Given the description of an element on the screen output the (x, y) to click on. 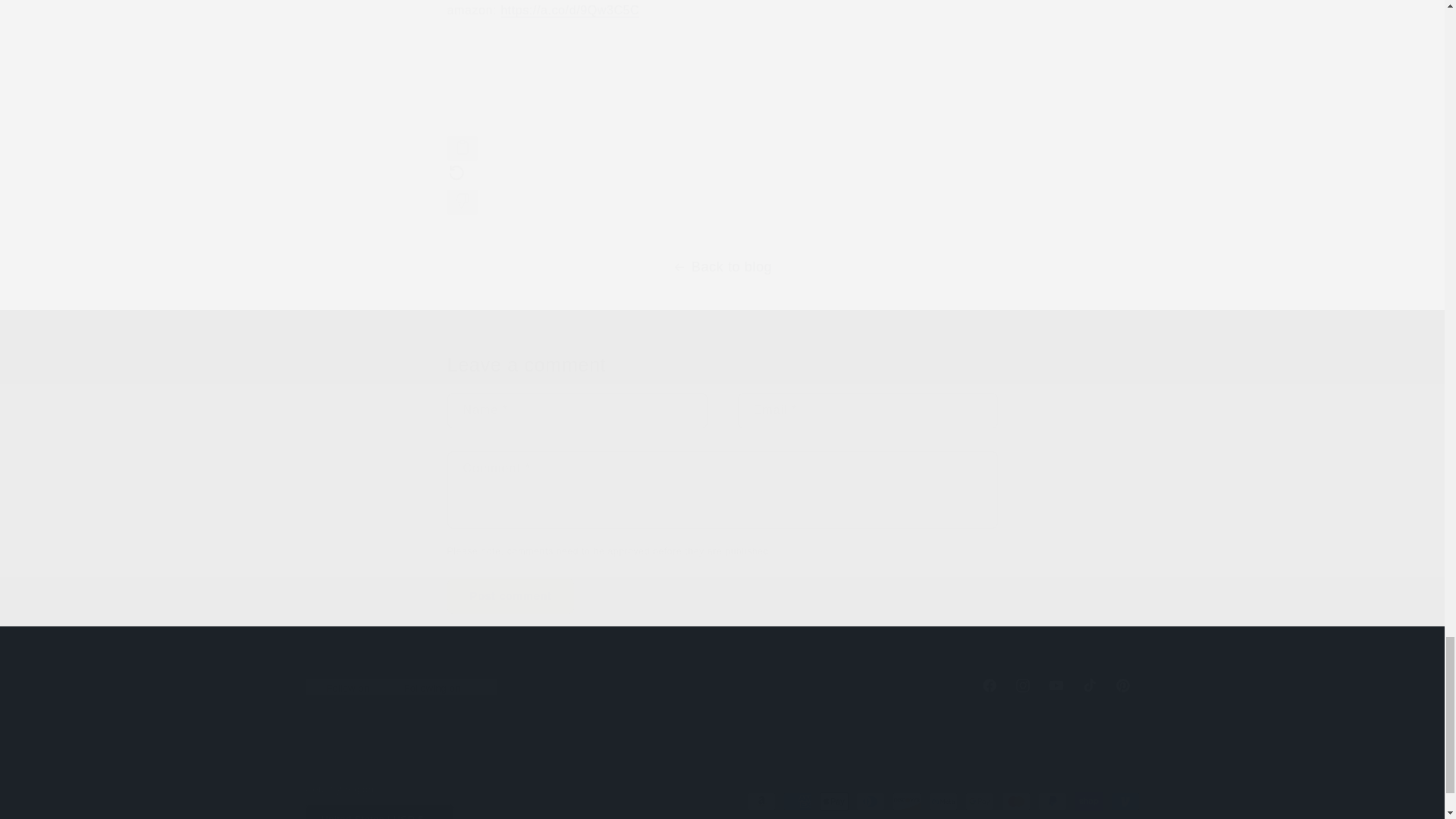
Pinterest (1121, 685)
adventure planner (569, 10)
YouTube (1055, 685)
Instagram (1022, 685)
Post comment (510, 596)
Facebook (721, 685)
Post comment (989, 685)
TikTok (510, 596)
